Given the description of an element on the screen output the (x, y) to click on. 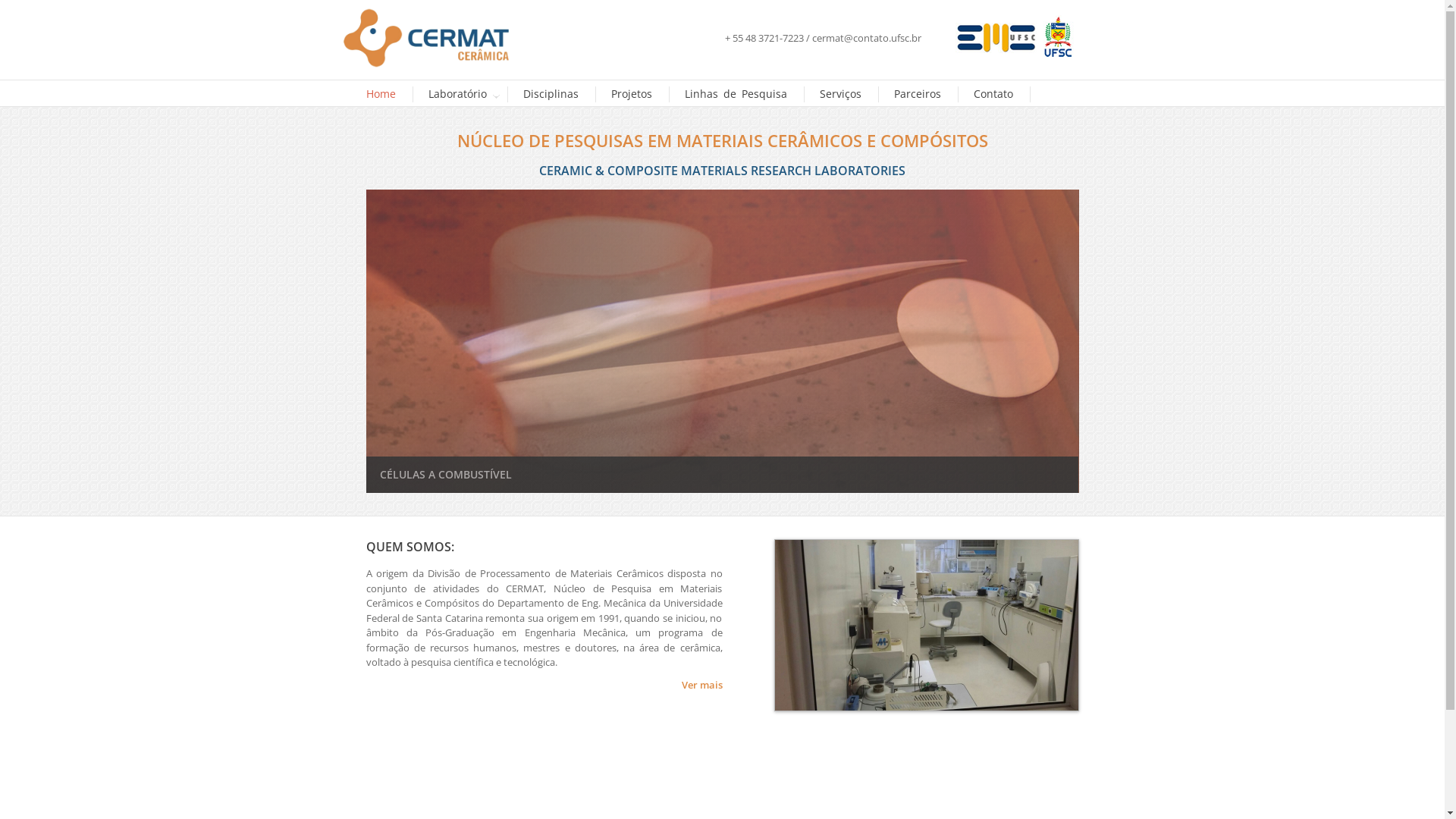
Contato Element type: text (993, 93)
Disciplinas Element type: text (550, 93)
Projetos Element type: text (631, 93)
Linhas de Pesquisa Element type: text (735, 93)
Ver mais Element type: text (700, 685)
Home Element type: text (380, 93)
Parceiros Element type: text (916, 93)
